Given the description of an element on the screen output the (x, y) to click on. 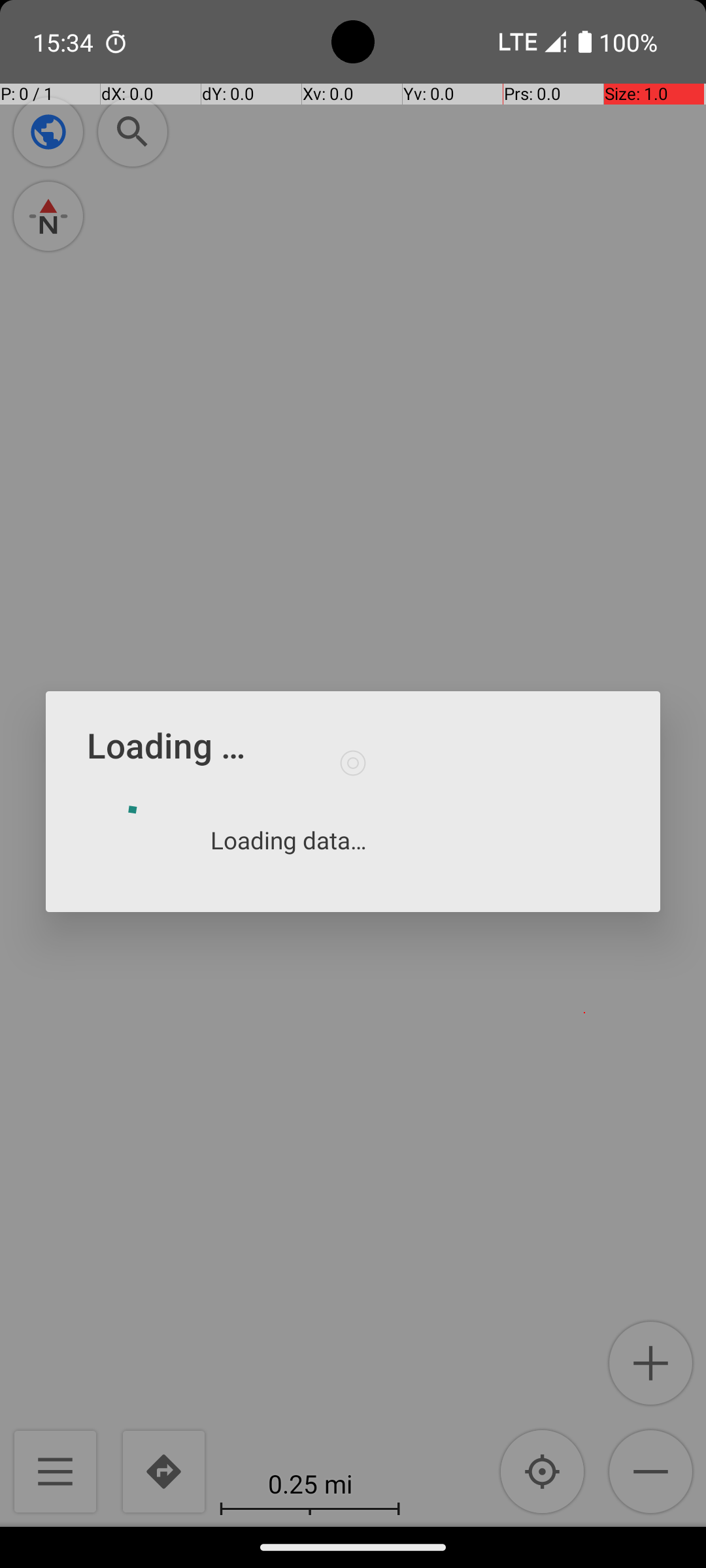
0.25 mi Element type: android.widget.TextView (309, 1483)
